Given the description of an element on the screen output the (x, y) to click on. 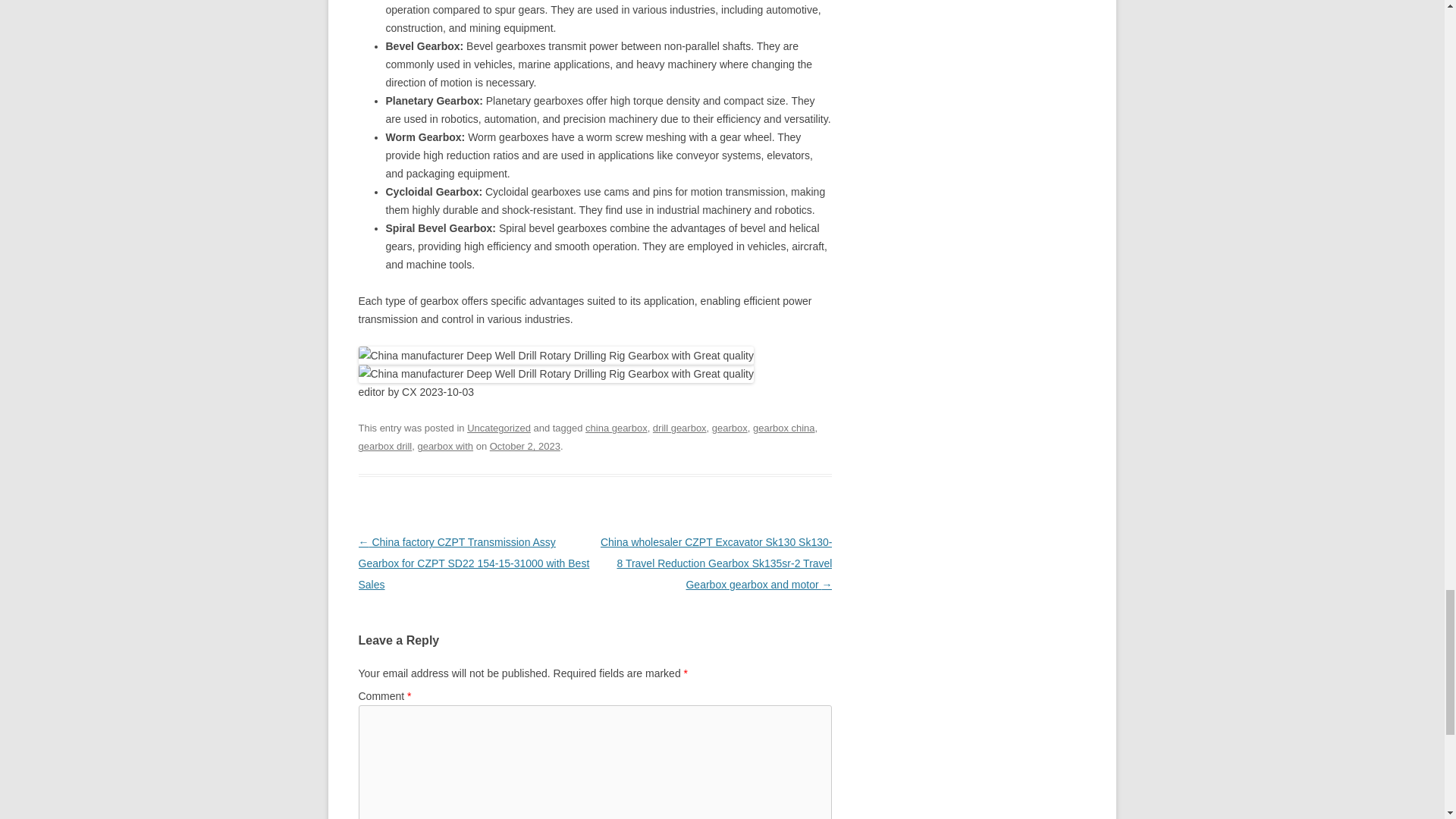
gearbox with (444, 446)
china gearbox (616, 428)
Uncategorized (499, 428)
October 2, 2023 (524, 446)
gearbox drill (385, 446)
gearbox china (783, 428)
gearbox (729, 428)
drill gearbox (679, 428)
10:23 pm (524, 446)
